Given the description of an element on the screen output the (x, y) to click on. 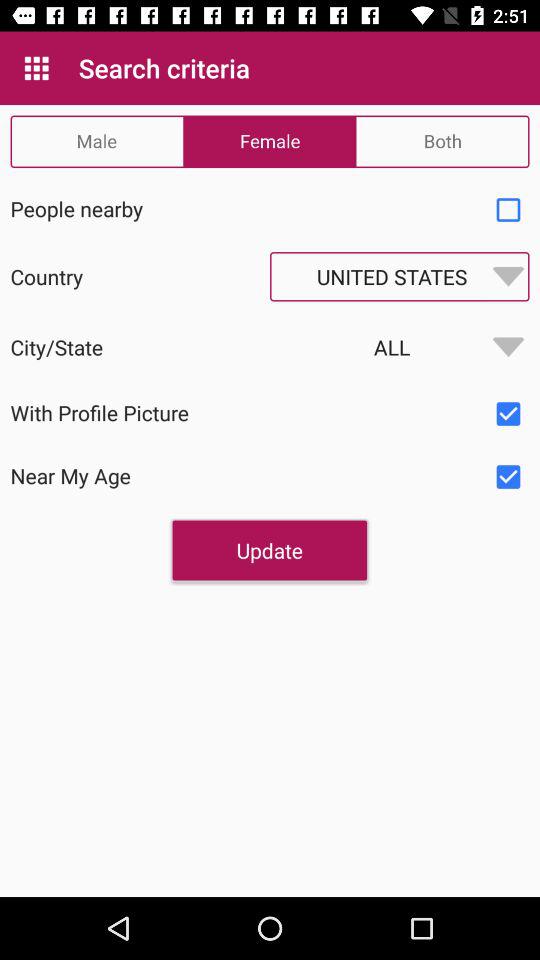
turn on the item next to the search criteria app (36, 68)
